Given the description of an element on the screen output the (x, y) to click on. 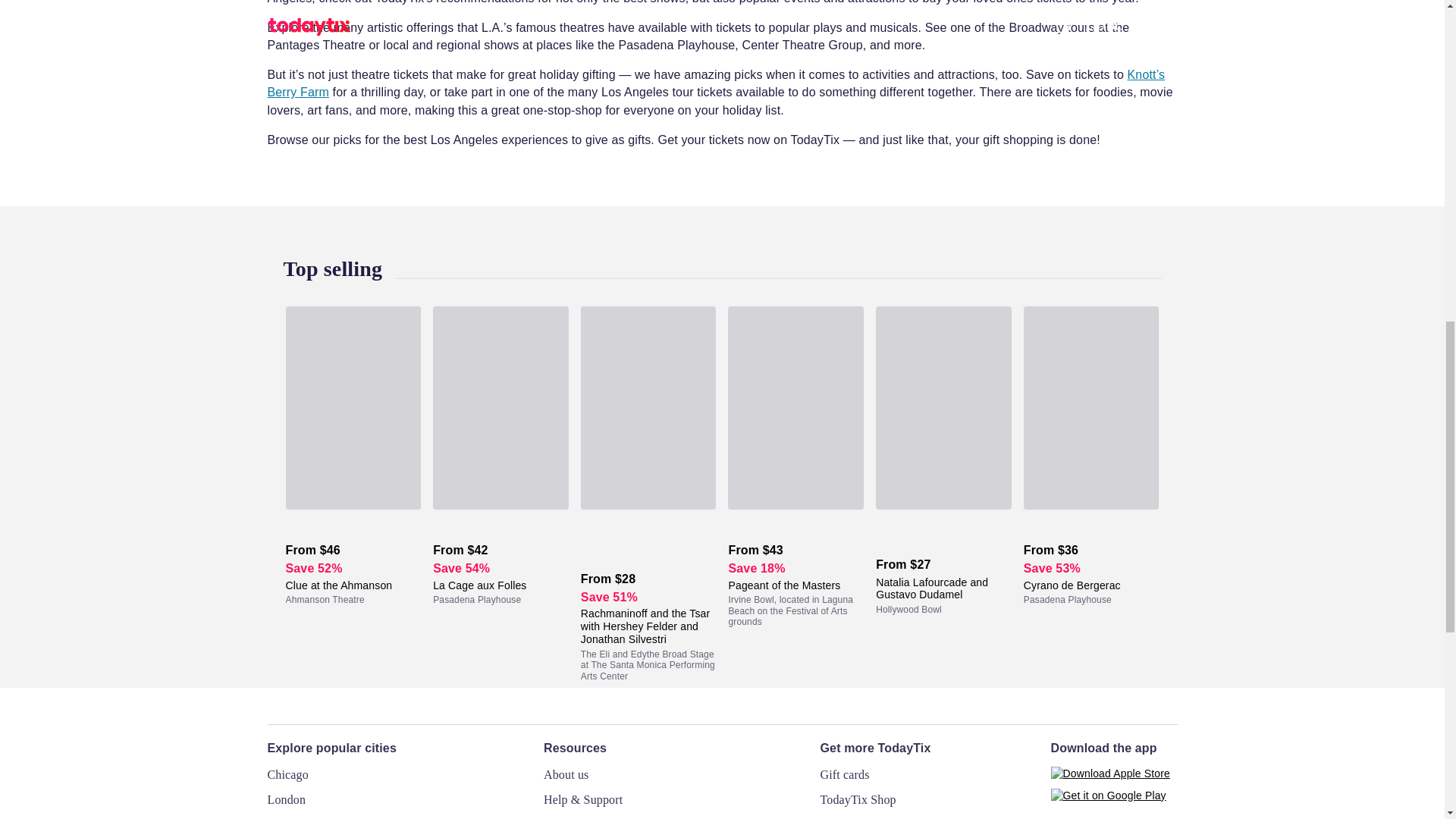
TodayTix Shop (858, 799)
London (285, 799)
About us (565, 774)
Gift cards (845, 774)
Chicago (286, 774)
